Given the description of an element on the screen output the (x, y) to click on. 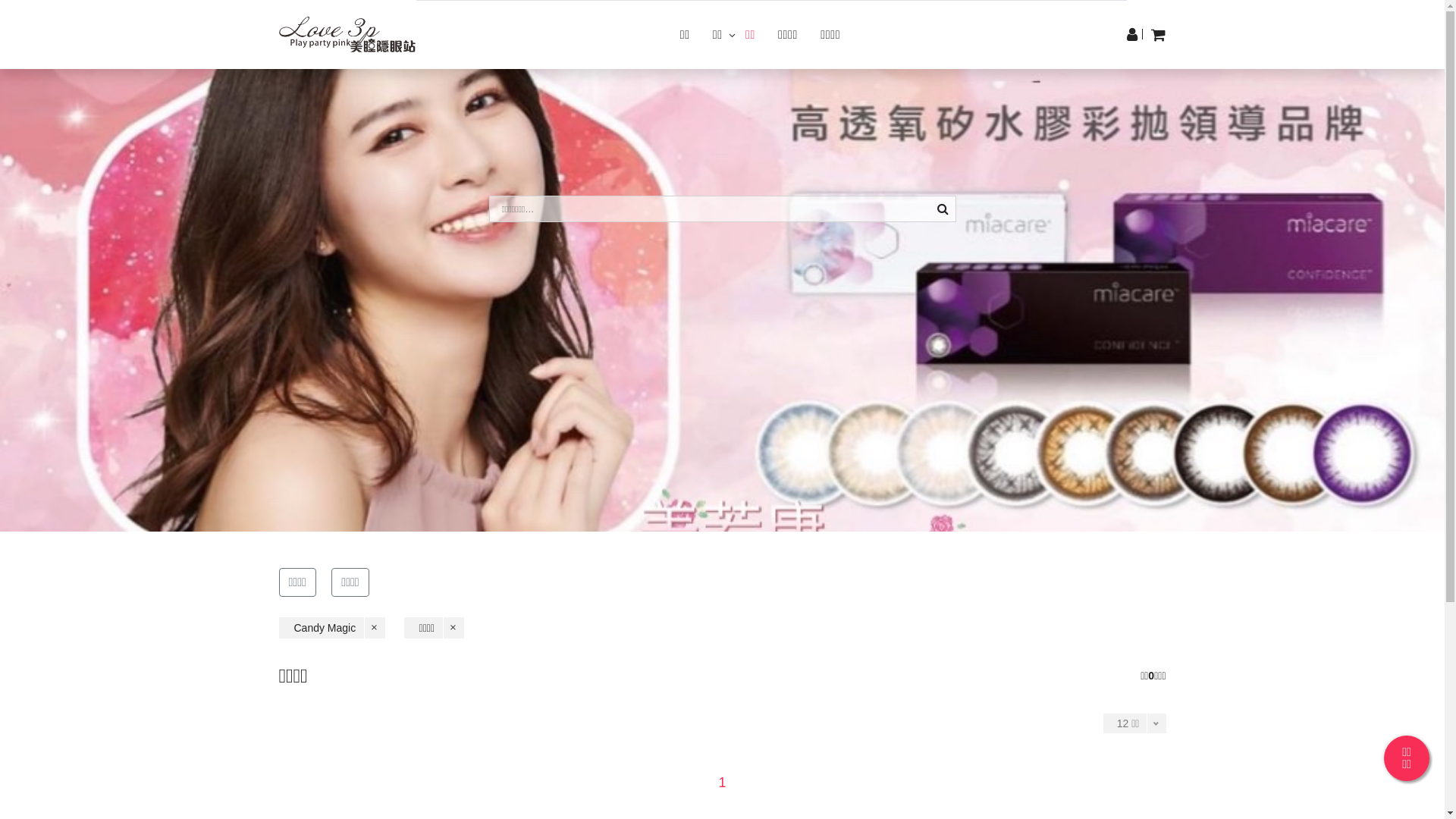
Candy Magic Element type: text (332, 627)
1 Element type: text (721, 782)
